Given the description of an element on the screen output the (x, y) to click on. 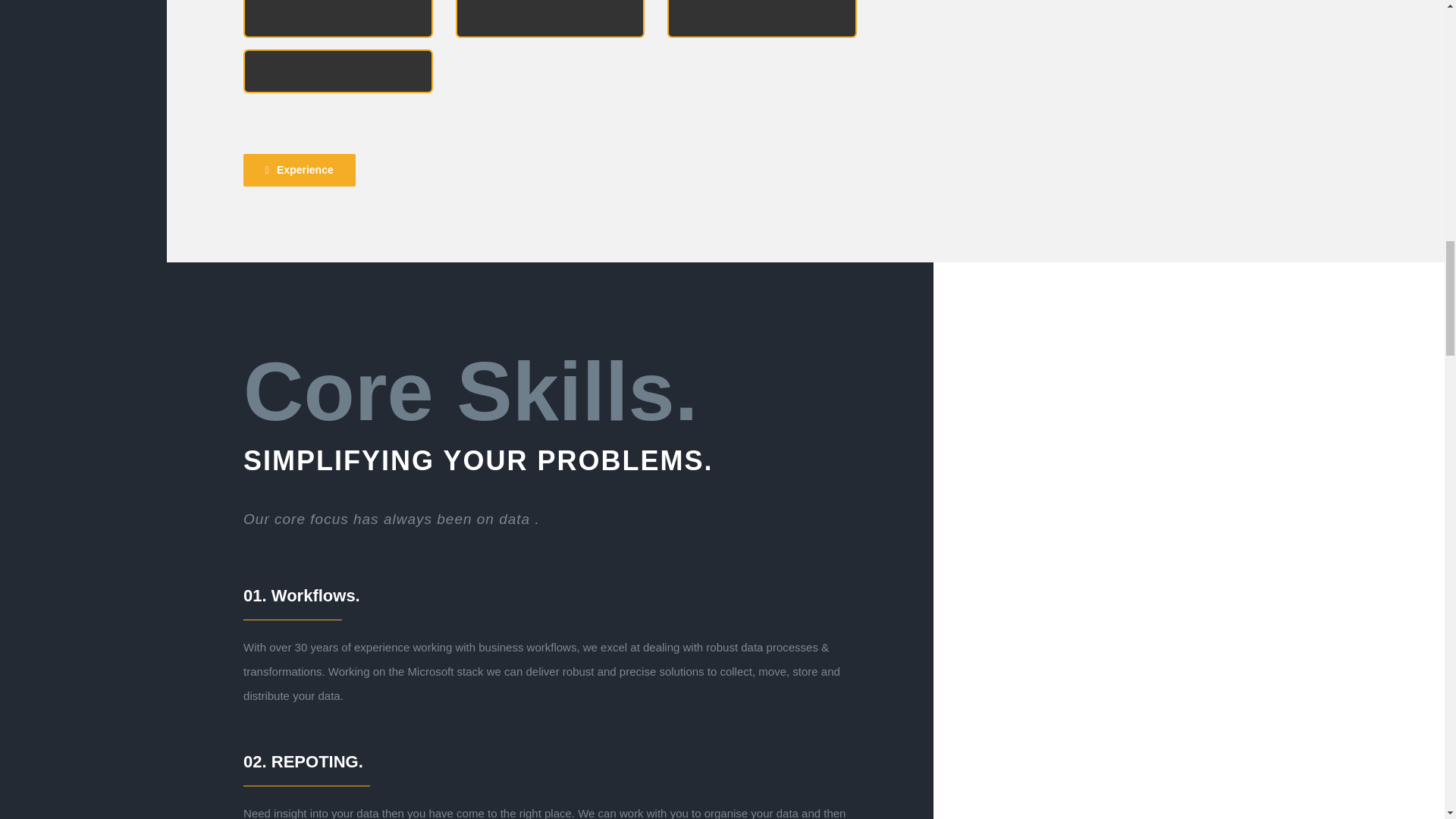
Experience (299, 169)
Website (549, 86)
Website (762, 86)
Website (337, 86)
Website (337, 141)
